Given the description of an element on the screen output the (x, y) to click on. 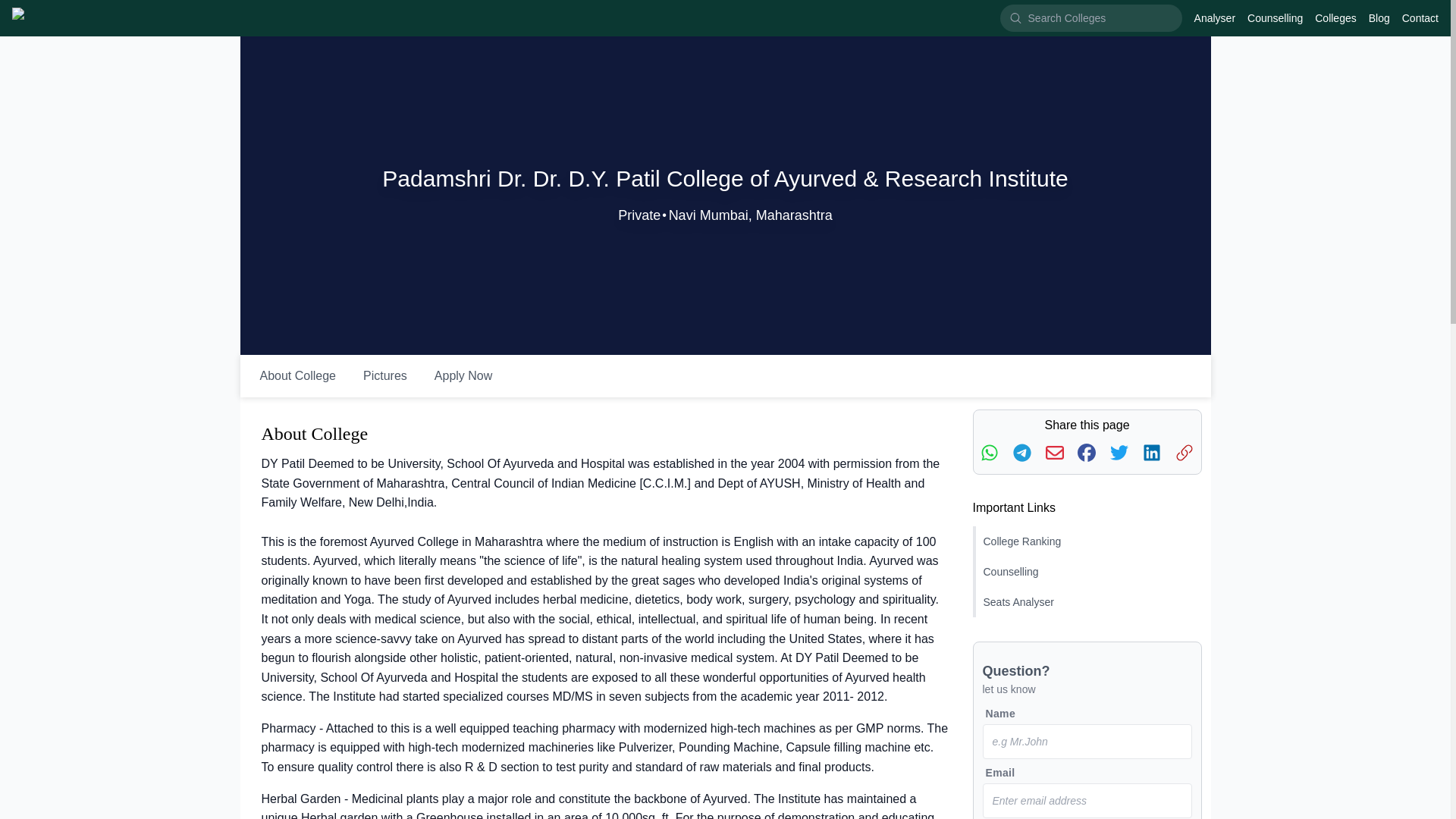
Counselling (1086, 571)
Apply Now (462, 376)
Contact (1420, 17)
About College (297, 376)
Seats Analyser (1086, 602)
Pictures (384, 376)
Counselling (1275, 17)
Colleges (1334, 17)
Analyser (1213, 17)
Blog (1379, 17)
